Given the description of an element on the screen output the (x, y) to click on. 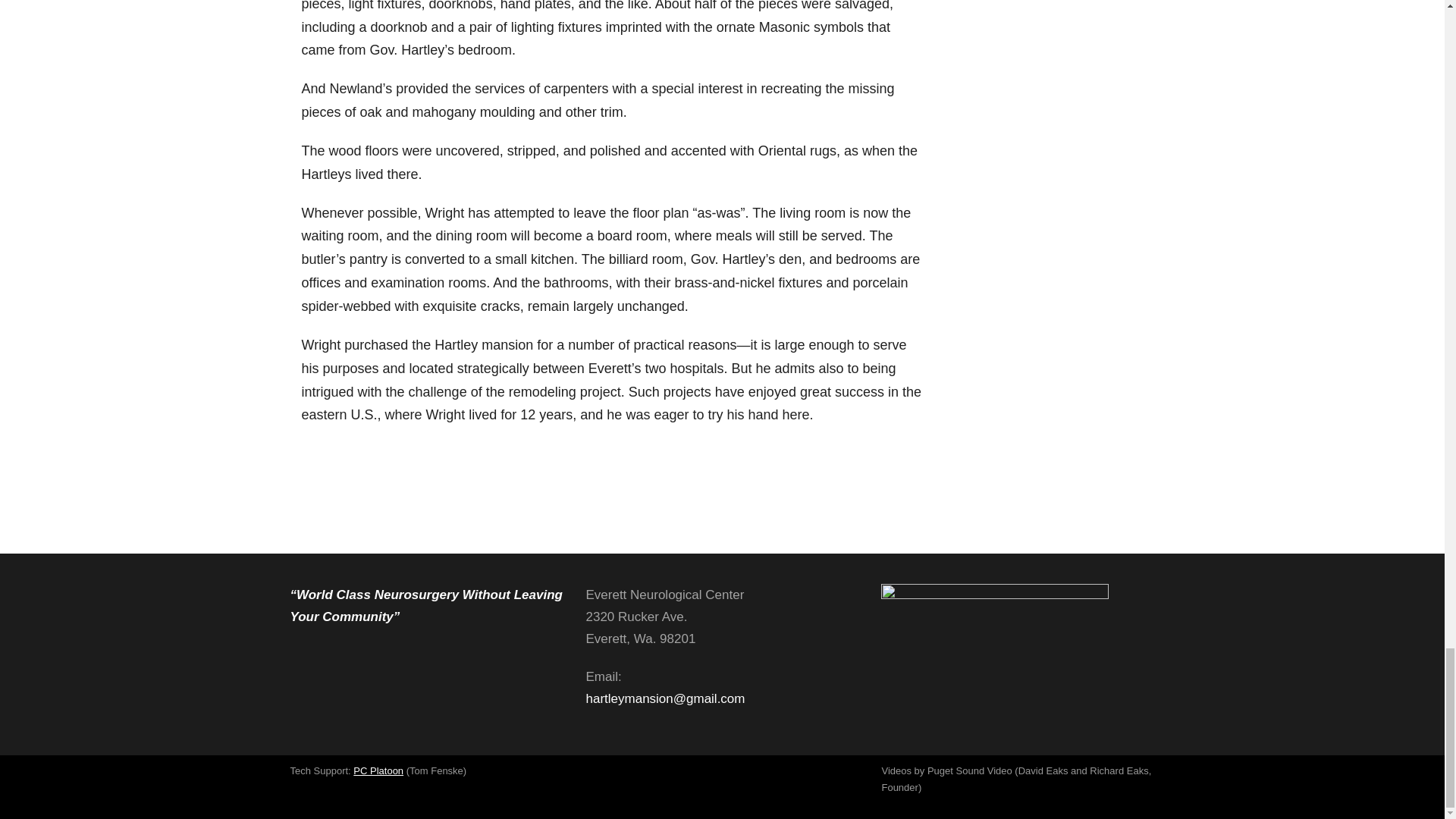
PC Platoon (378, 770)
